Given the description of an element on the screen output the (x, y) to click on. 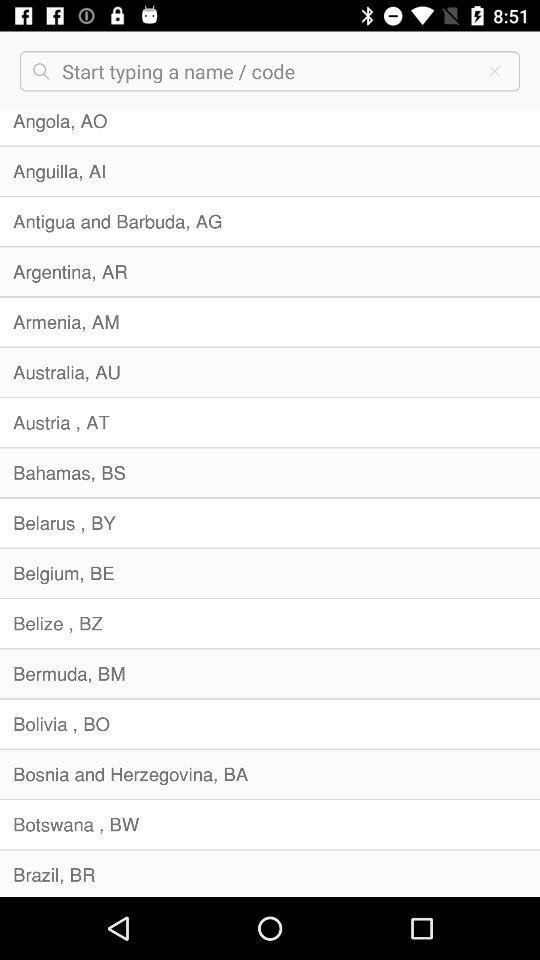
open item above the brazil, br icon (270, 824)
